Given the description of an element on the screen output the (x, y) to click on. 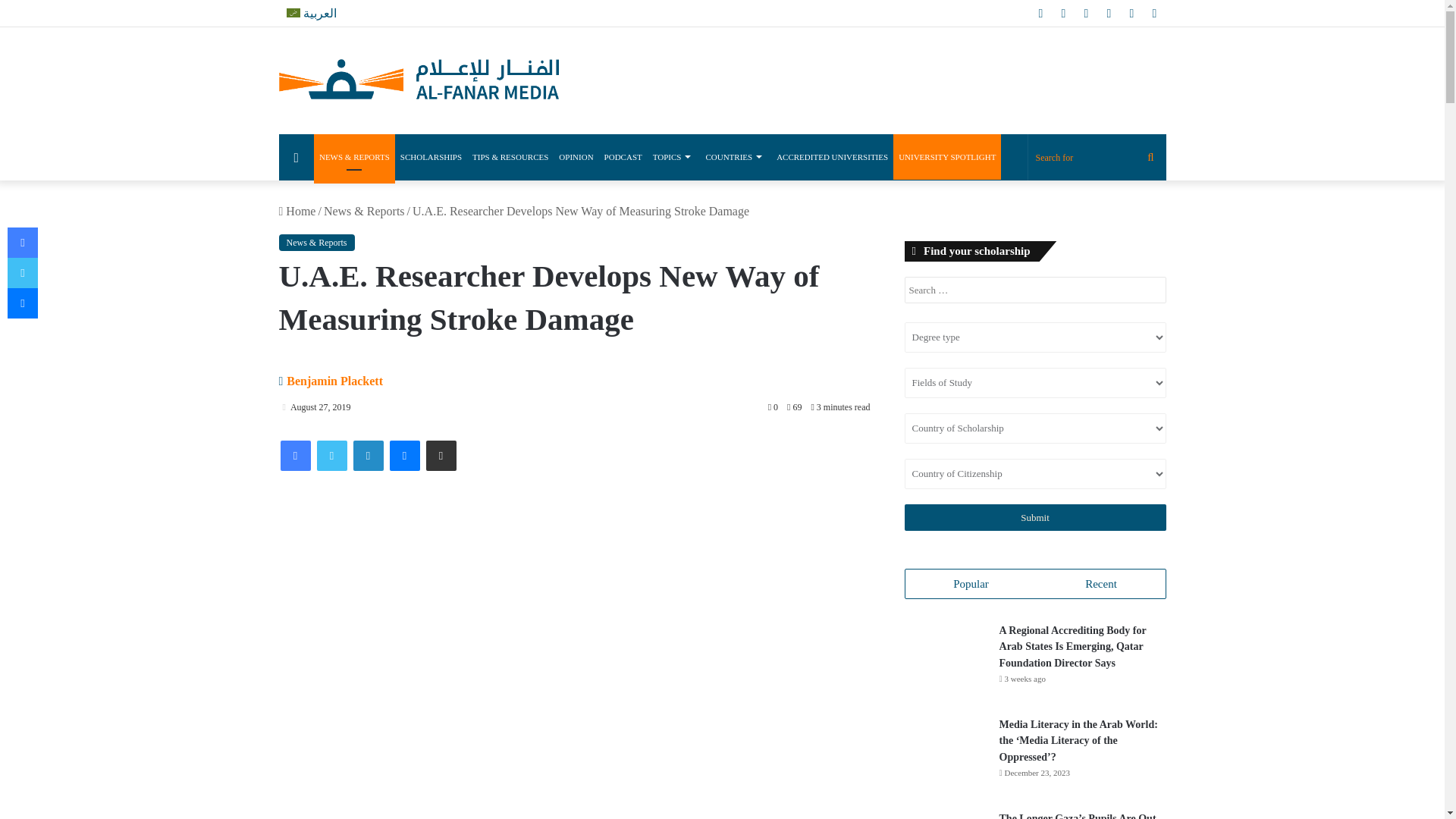
TOPICS (673, 156)
COUNTRIES (735, 156)
Facebook (296, 455)
Twitter (332, 455)
PODCAST (622, 156)
LinkedIn (368, 455)
Share via Email (441, 455)
SCHOLARSHIPS (430, 156)
Search for (1096, 157)
OPINION (575, 156)
Messenger (405, 455)
Submit (1035, 517)
Al-Fanar Media (419, 80)
